Given the description of an element on the screen output the (x, y) to click on. 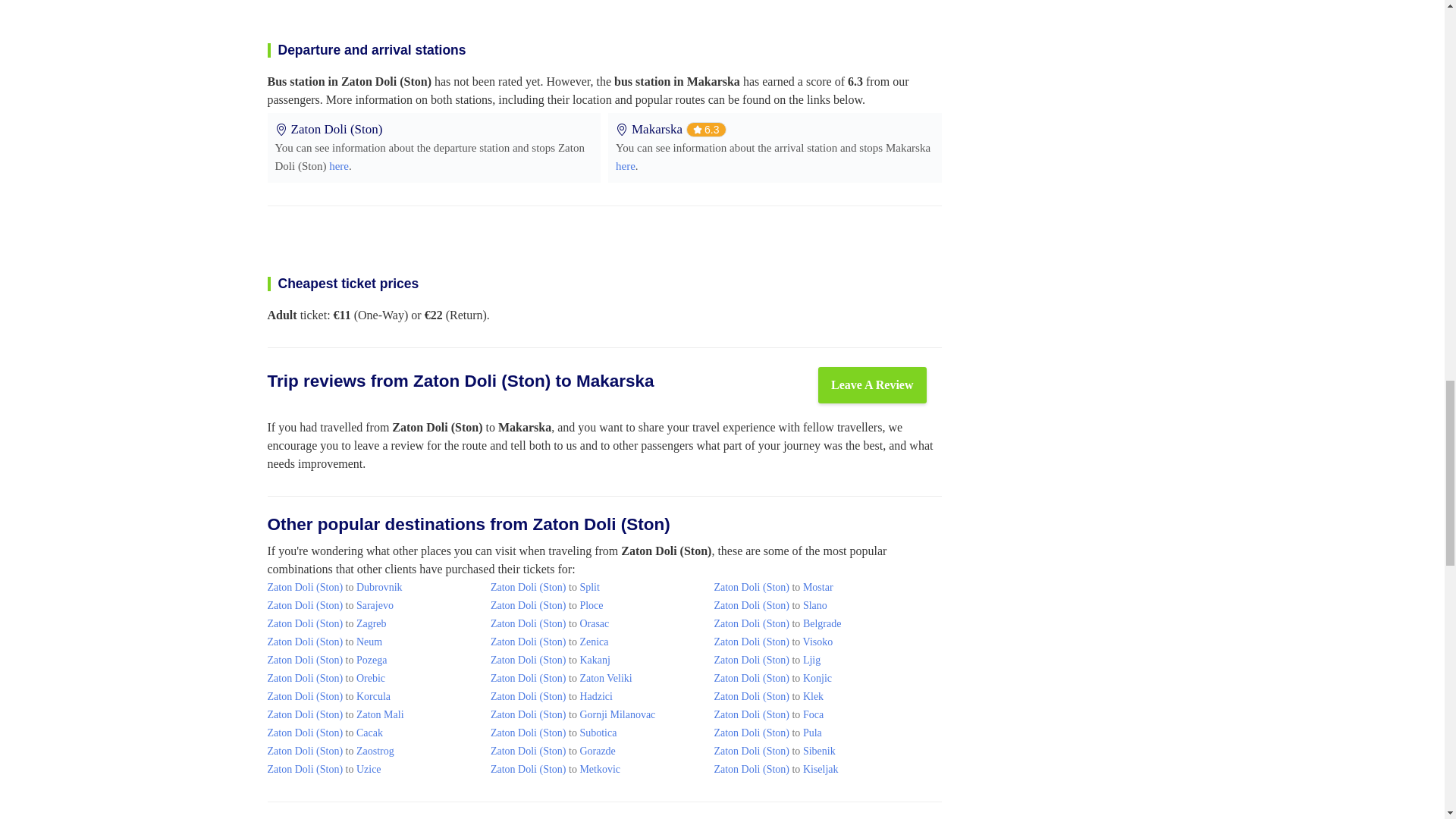
here (624, 165)
Leave A Review (872, 384)
here (339, 165)
